Given the description of an element on the screen output the (x, y) to click on. 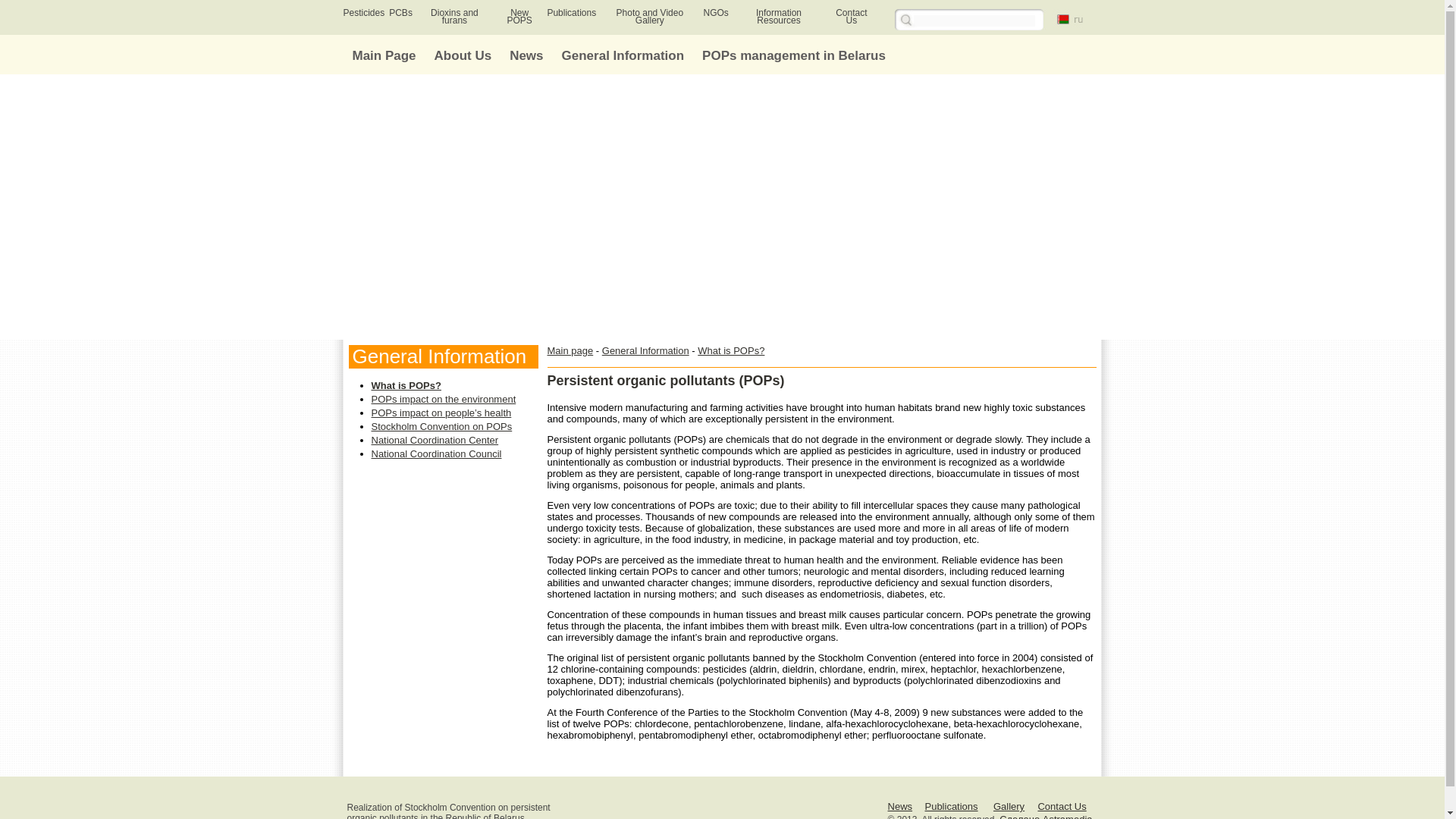
General Information (623, 55)
General Information (645, 350)
Stockholm Convention on POPs (441, 426)
News (900, 806)
New POPS (518, 16)
POPs management in Belarus (794, 55)
PCBs (400, 12)
National Coordination Council (436, 453)
Contact Us (1061, 806)
Publications (950, 806)
Photo and Video Gallery (649, 16)
National Coordination Center (435, 439)
What is POPs? (730, 350)
What is POPs? (406, 385)
Publications (571, 12)
